Given the description of an element on the screen output the (x, y) to click on. 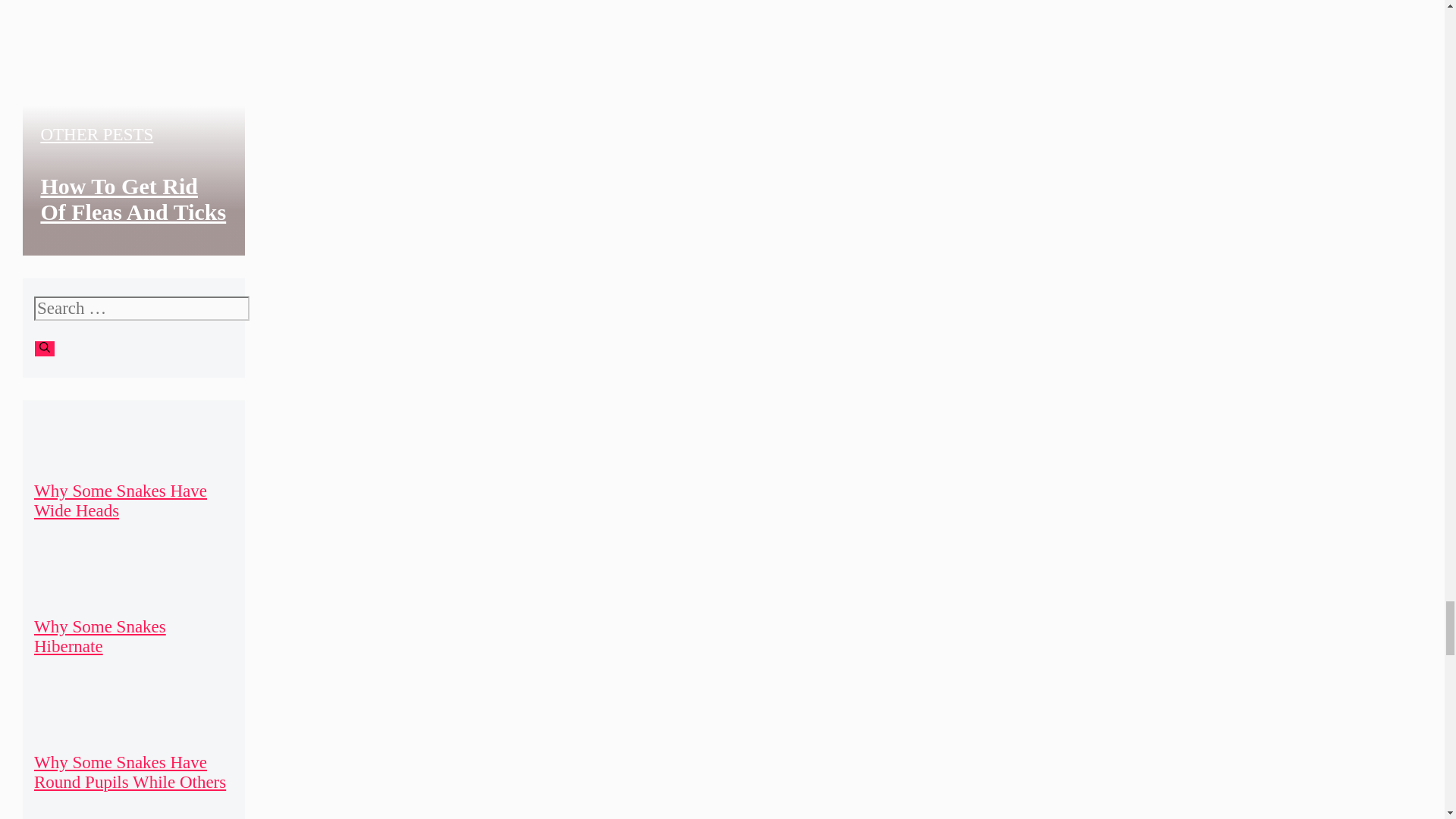
Why Some Snakes Have Wide Heads (119, 500)
Why Some Snakes Hibernate (99, 636)
OTHER PESTS (96, 134)
How To Get Rid Of Fleas And Ticks With Home Remedies (132, 224)
